Given the description of an element on the screen output the (x, y) to click on. 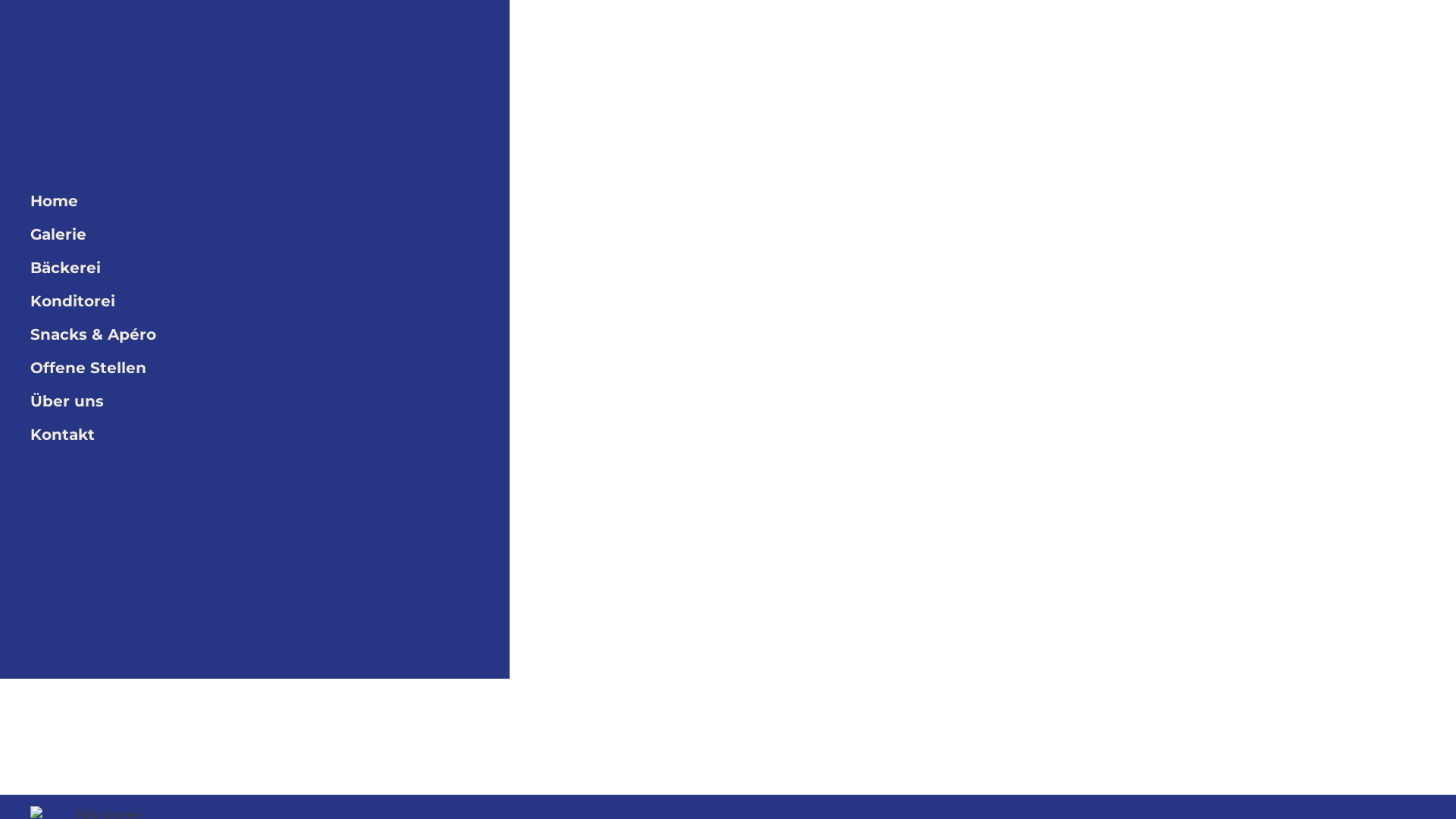
Kontakt Element type: text (284, 434)
Offene Stellen Element type: text (284, 367)
Konditorei Element type: text (284, 300)
Home Element type: text (284, 200)
Galerie Element type: text (284, 234)
